Given the description of an element on the screen output the (x, y) to click on. 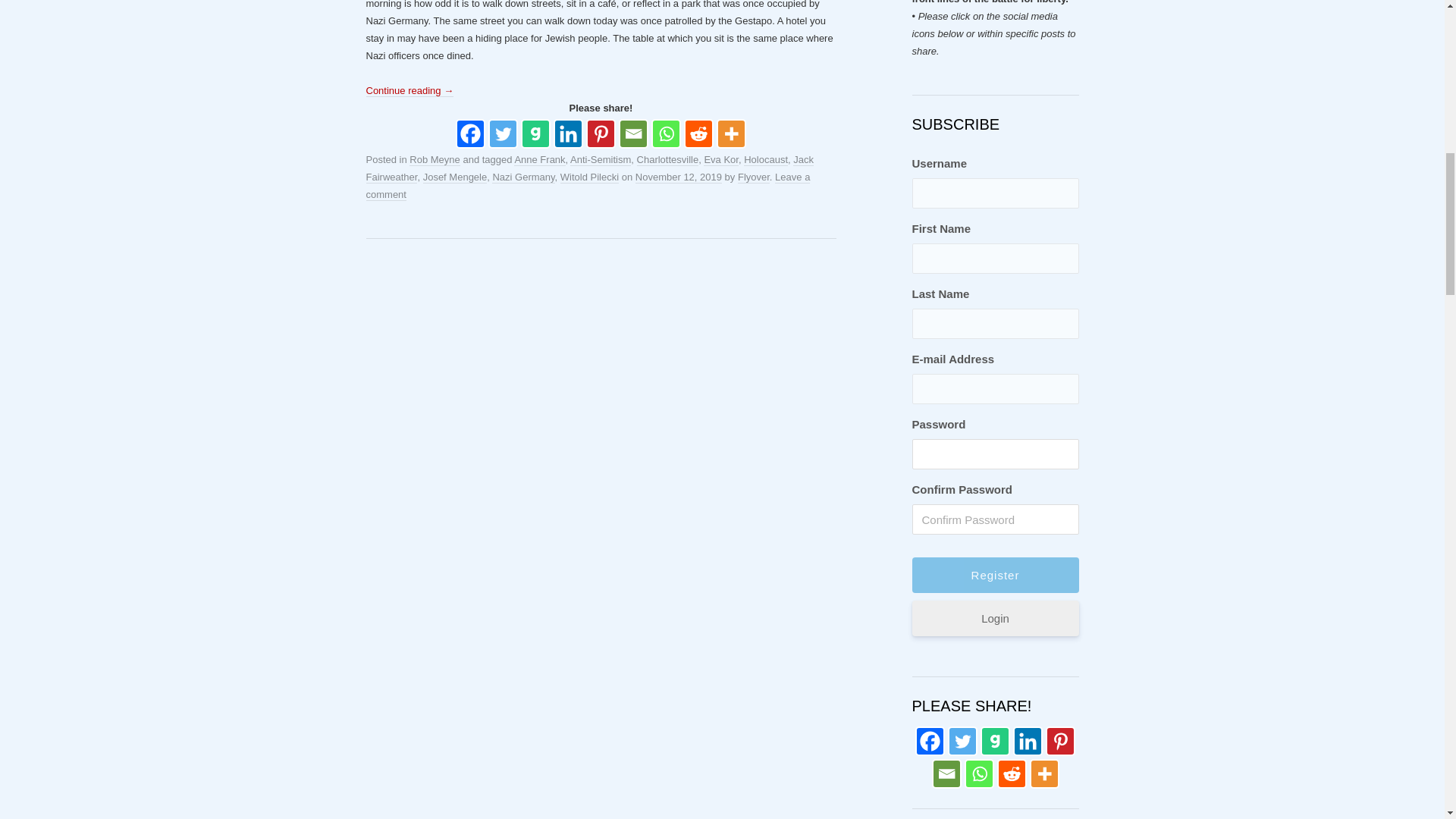
Gab (535, 133)
Holocaust (765, 159)
More (730, 133)
Josef Mengele (455, 177)
View all posts by Flyover (754, 177)
Eva Kor (720, 159)
12:19 pm (678, 177)
Pinterest (600, 133)
Jack Fairweather (588, 168)
Facebook (469, 133)
Anne Frank (538, 159)
Whatsapp (665, 133)
Twitter (961, 740)
Email (632, 133)
Gab (994, 740)
